Given the description of an element on the screen output the (x, y) to click on. 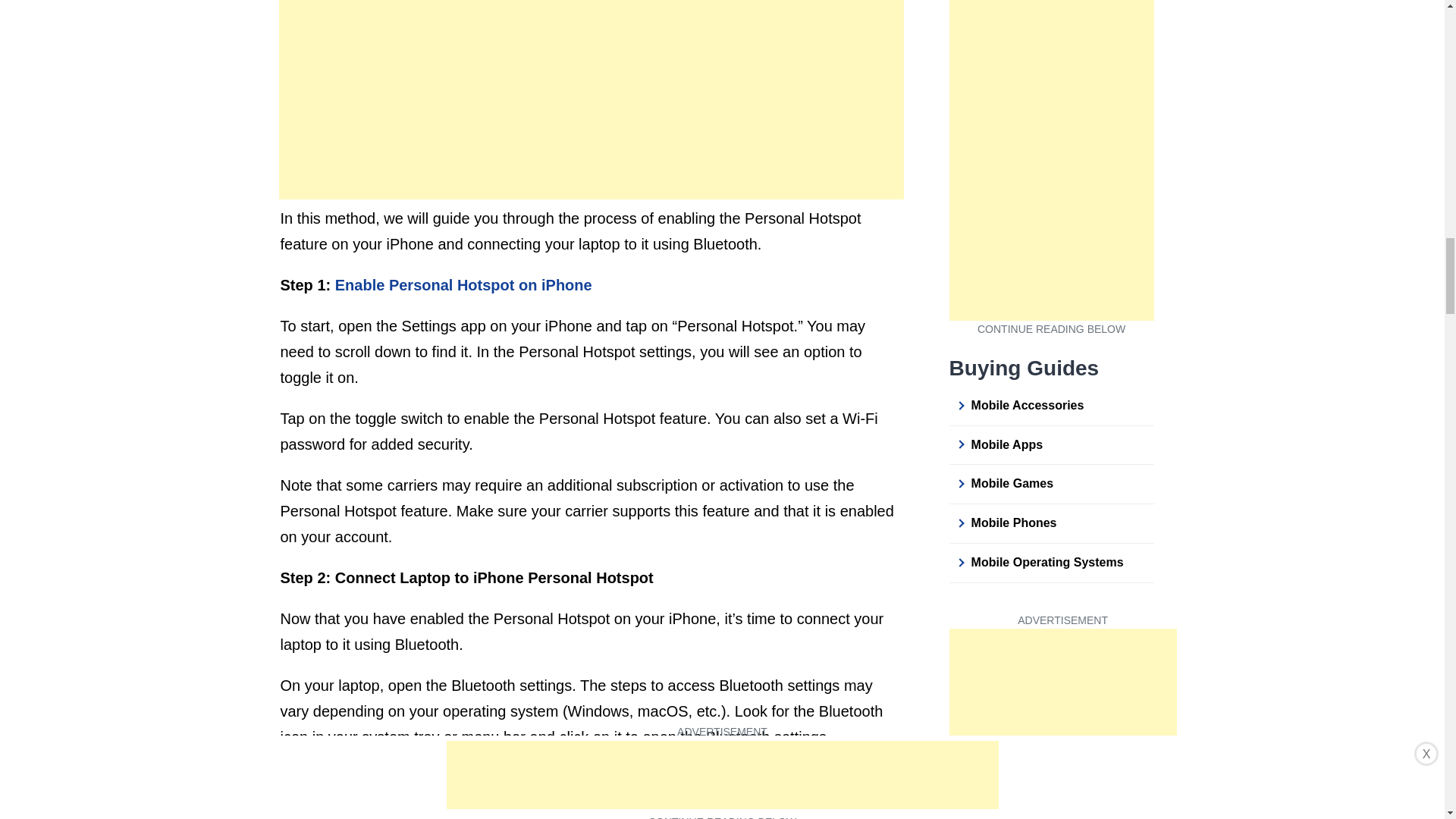
Enable Personal Hotspot on iPhone (463, 284)
